Given the description of an element on the screen output the (x, y) to click on. 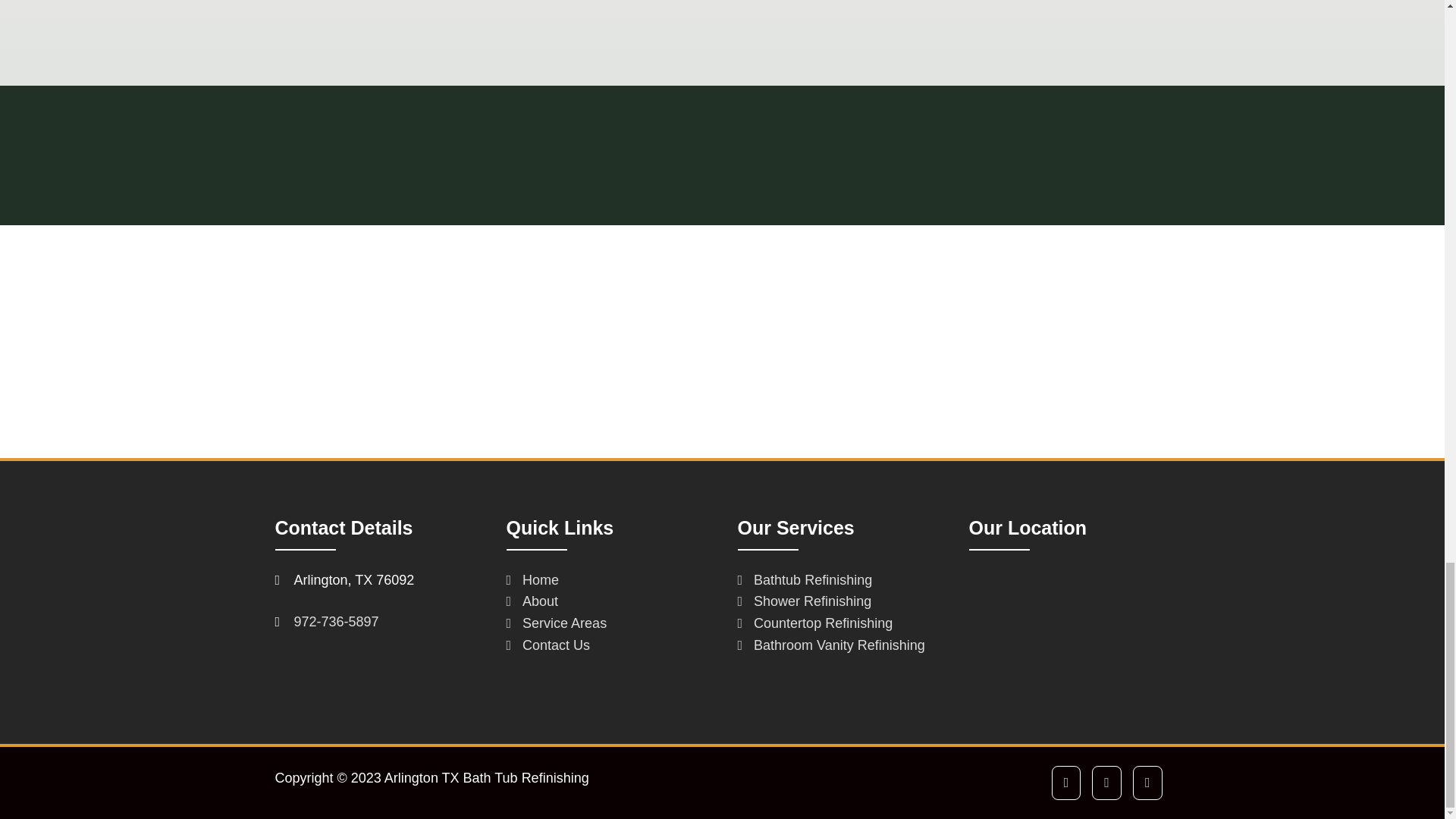
Countertop Refinishing (814, 622)
972-736-5897 (336, 621)
Bathroom Vanity Refinishing (830, 645)
Shower Refinishing (803, 601)
Bathtub Refinishing (804, 580)
Service Areas (556, 622)
Home (532, 580)
Contact Us (548, 645)
About (532, 601)
